Given the description of an element on the screen output the (x, y) to click on. 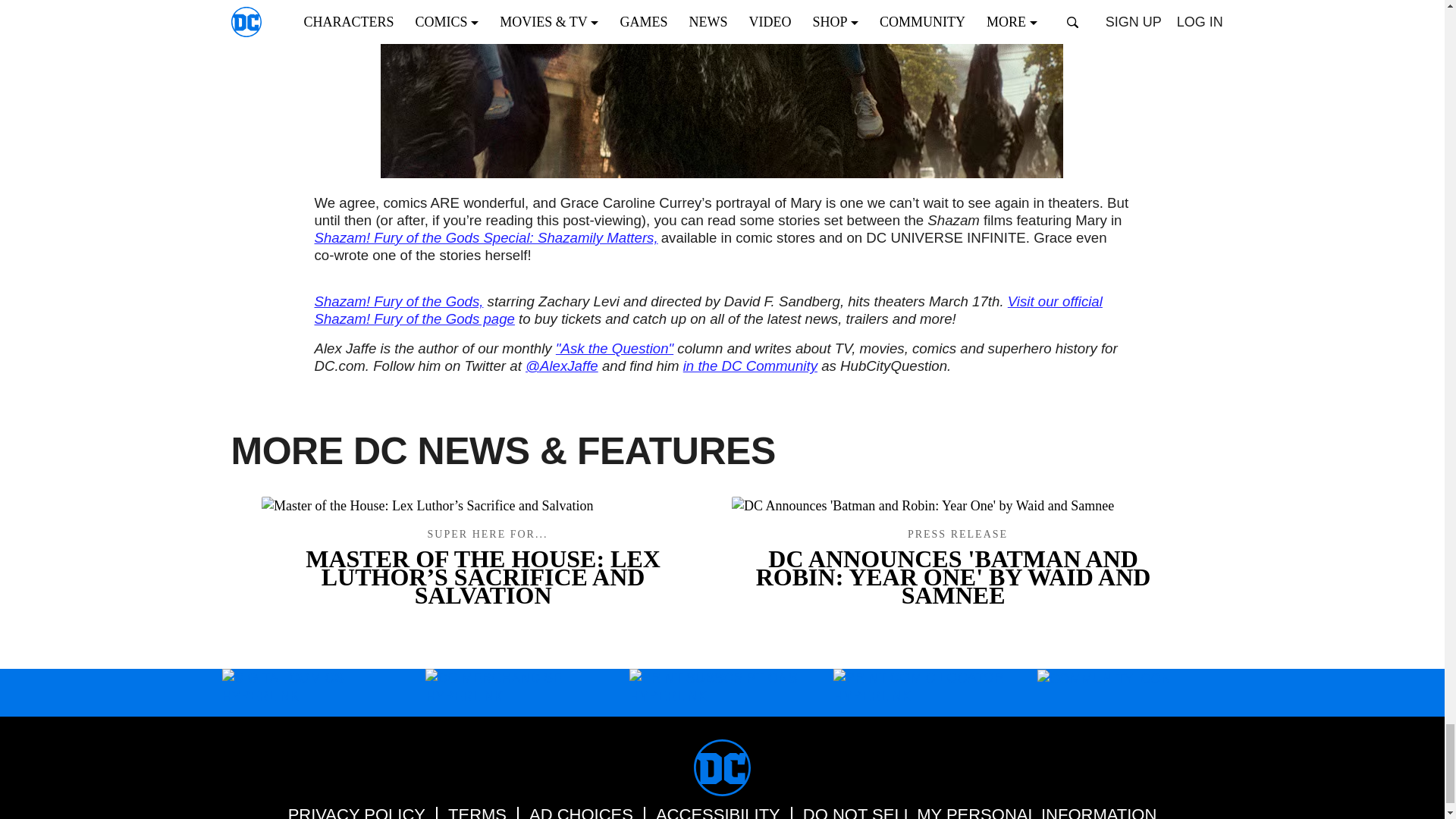
DC Announces 'Batman and Robin: Year One' by Waid and Samnee (956, 566)
DC Announces 'Batman and Robin: Year One' by Waid and Samnee (956, 565)
DC Announces 'Batman and Robin: Year One' by Waid and Samnee (956, 505)
